Given the description of an element on the screen output the (x, y) to click on. 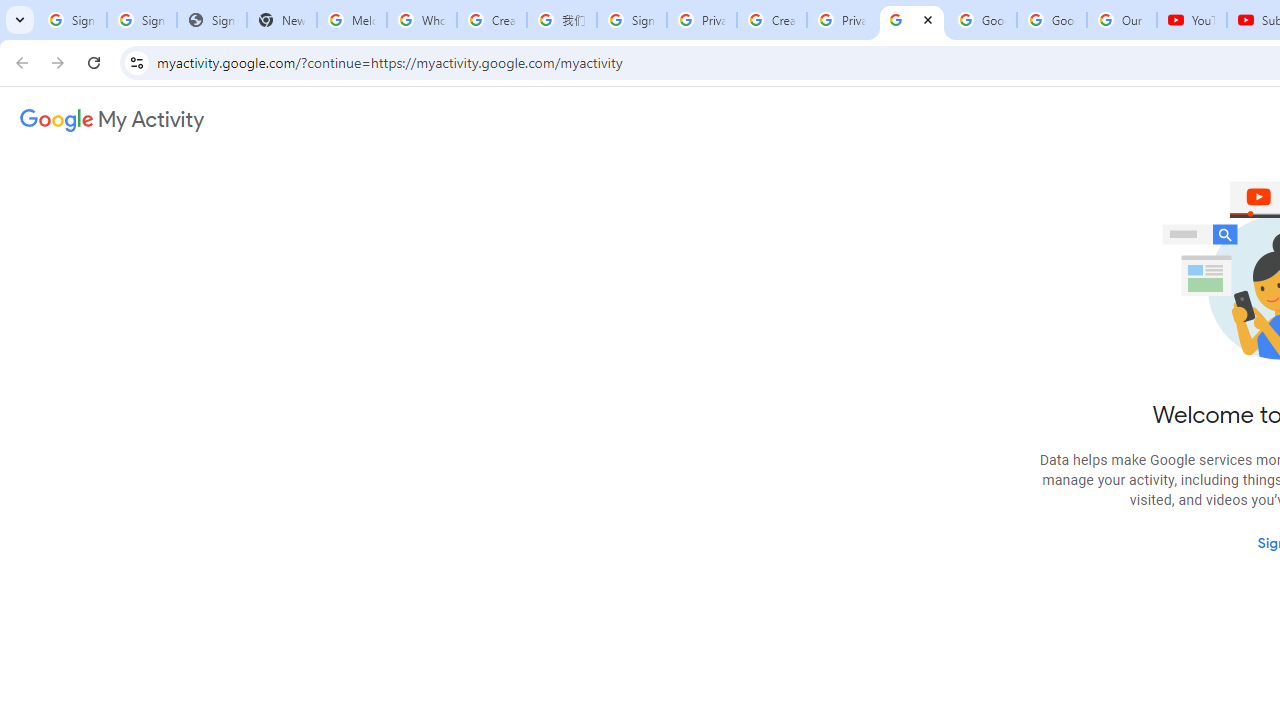
Welcome to My Activity (911, 20)
New Tab (282, 20)
Create your Google Account (772, 20)
YouTube (1192, 20)
Create your Google Account (492, 20)
Who is my administrator? - Google Account Help (421, 20)
Sign in - Google Accounts (631, 20)
